Given the description of an element on the screen output the (x, y) to click on. 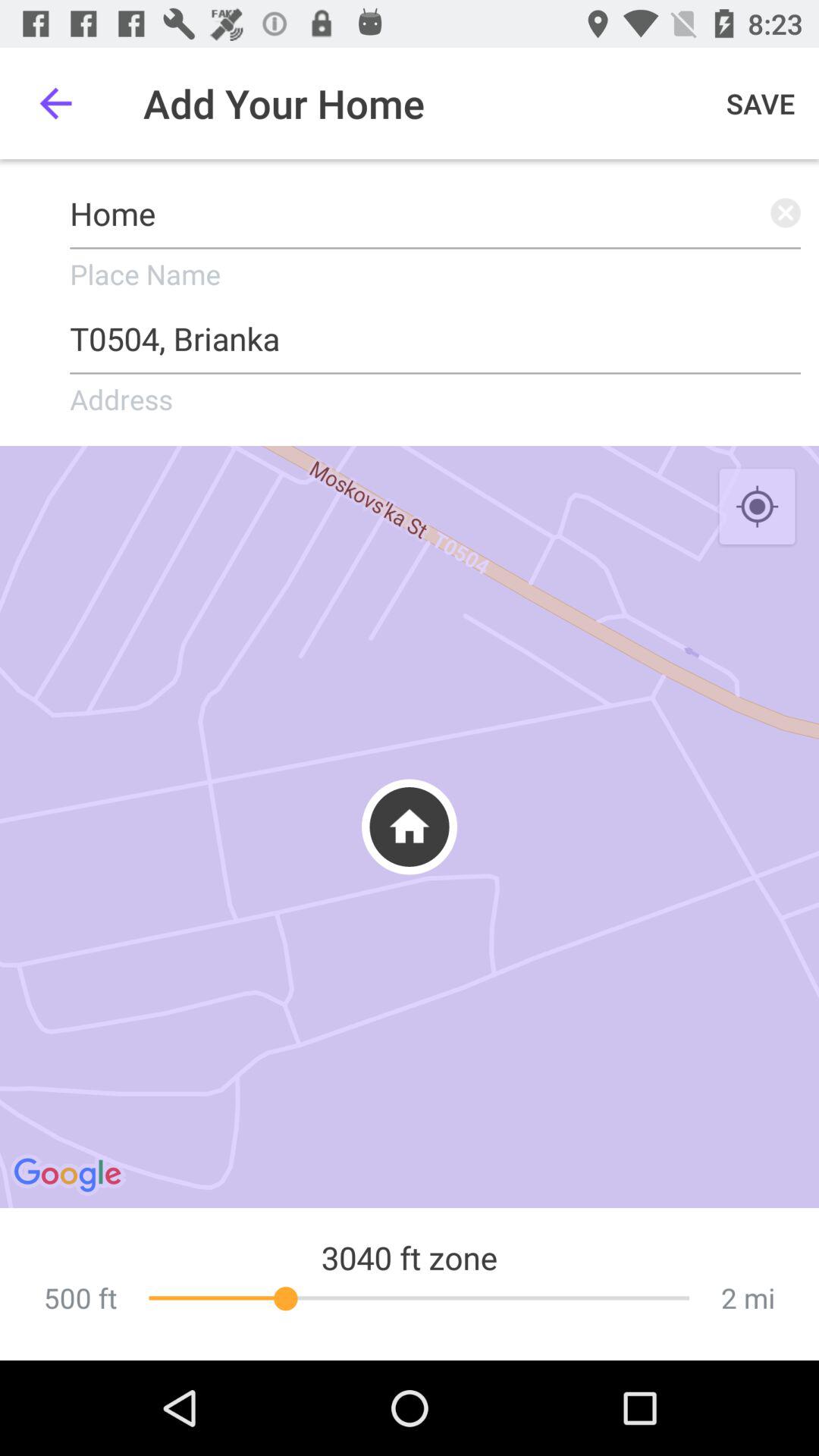
launch item below t0504, brianka item (757, 507)
